Given the description of an element on the screen output the (x, y) to click on. 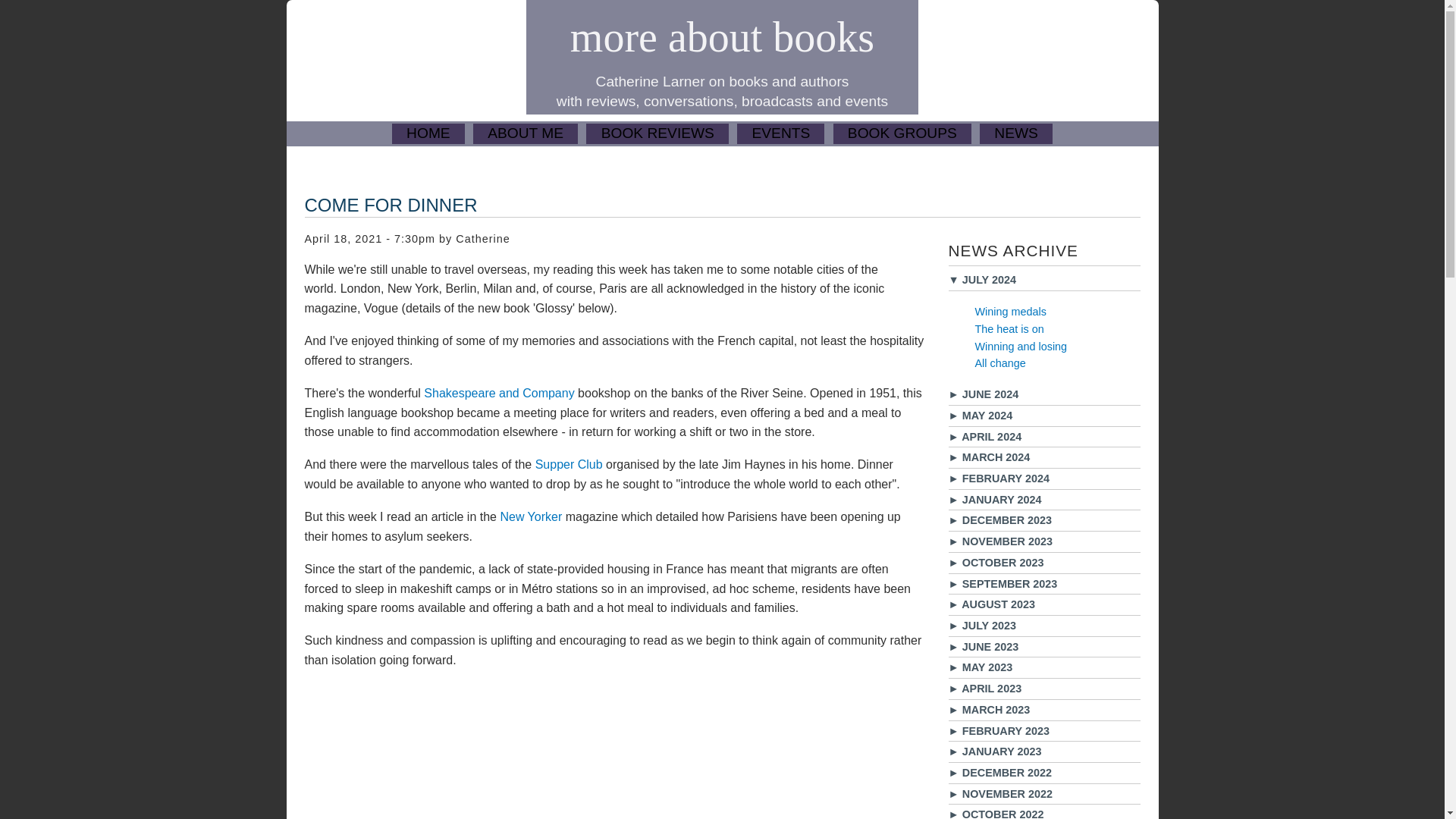
Winning and losing (1021, 346)
Supper Club  (570, 463)
ABOUT ME (525, 133)
Shakespeare and Company (498, 392)
more about books (721, 36)
Wining medals (1010, 311)
NEWS (1015, 133)
BOOK REVIEWS (657, 133)
HOME (427, 133)
Books read at book group (901, 133)
Home (721, 36)
All change (1000, 363)
EVENTS (780, 133)
BOOK GROUPS (901, 133)
The heat is on (1009, 328)
